Given the description of an element on the screen output the (x, y) to click on. 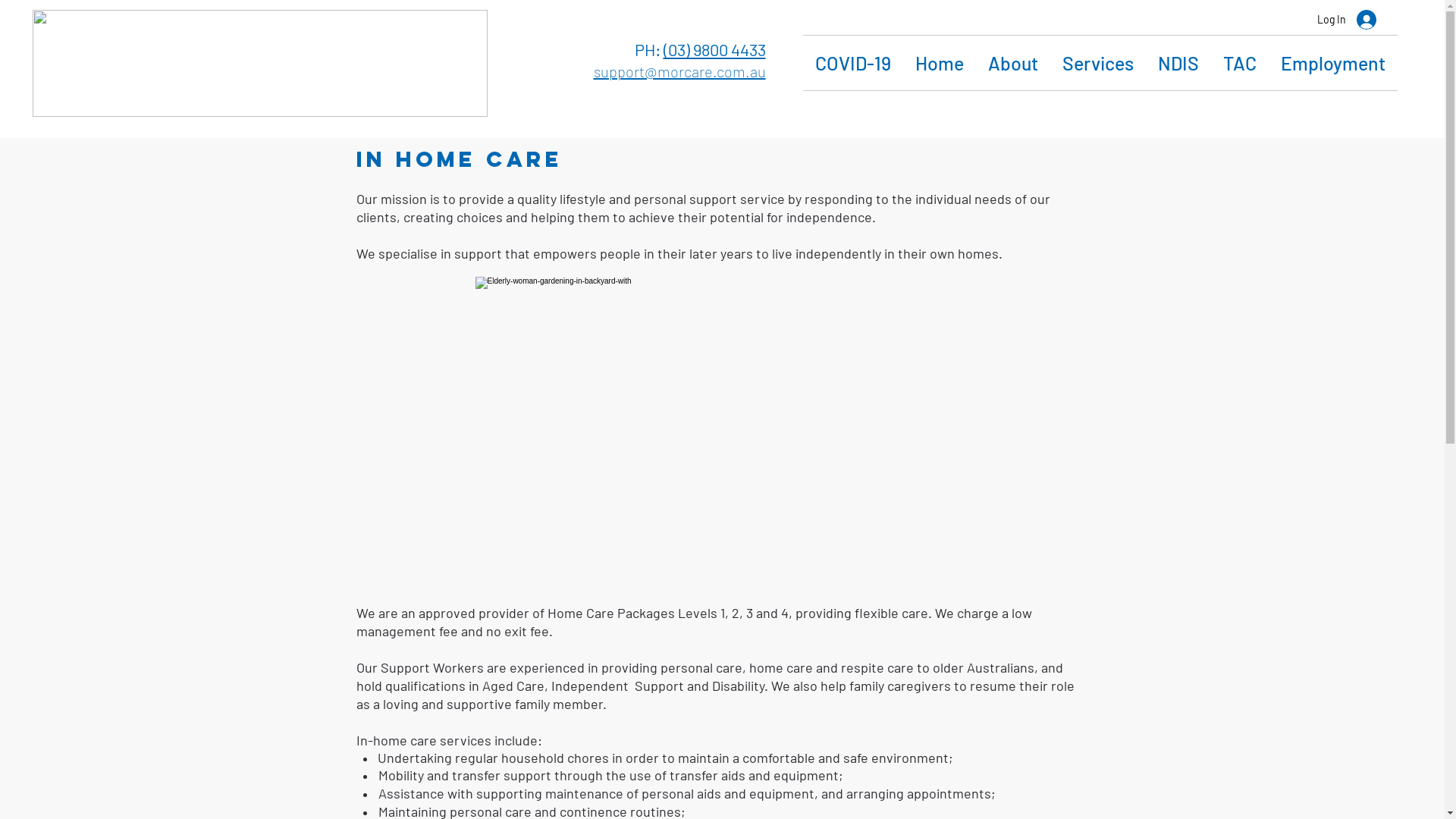
Log In Element type: text (1345, 19)
About Element type: text (1012, 62)
support@morcare.com.au Element type: text (679, 73)
NDIS Element type: text (1177, 62)
COVID-19 Element type: text (852, 62)
TAC Element type: text (1238, 62)
(03) 9800 4433 Element type: text (713, 49)
Home Element type: text (938, 62)
